Given the description of an element on the screen output the (x, y) to click on. 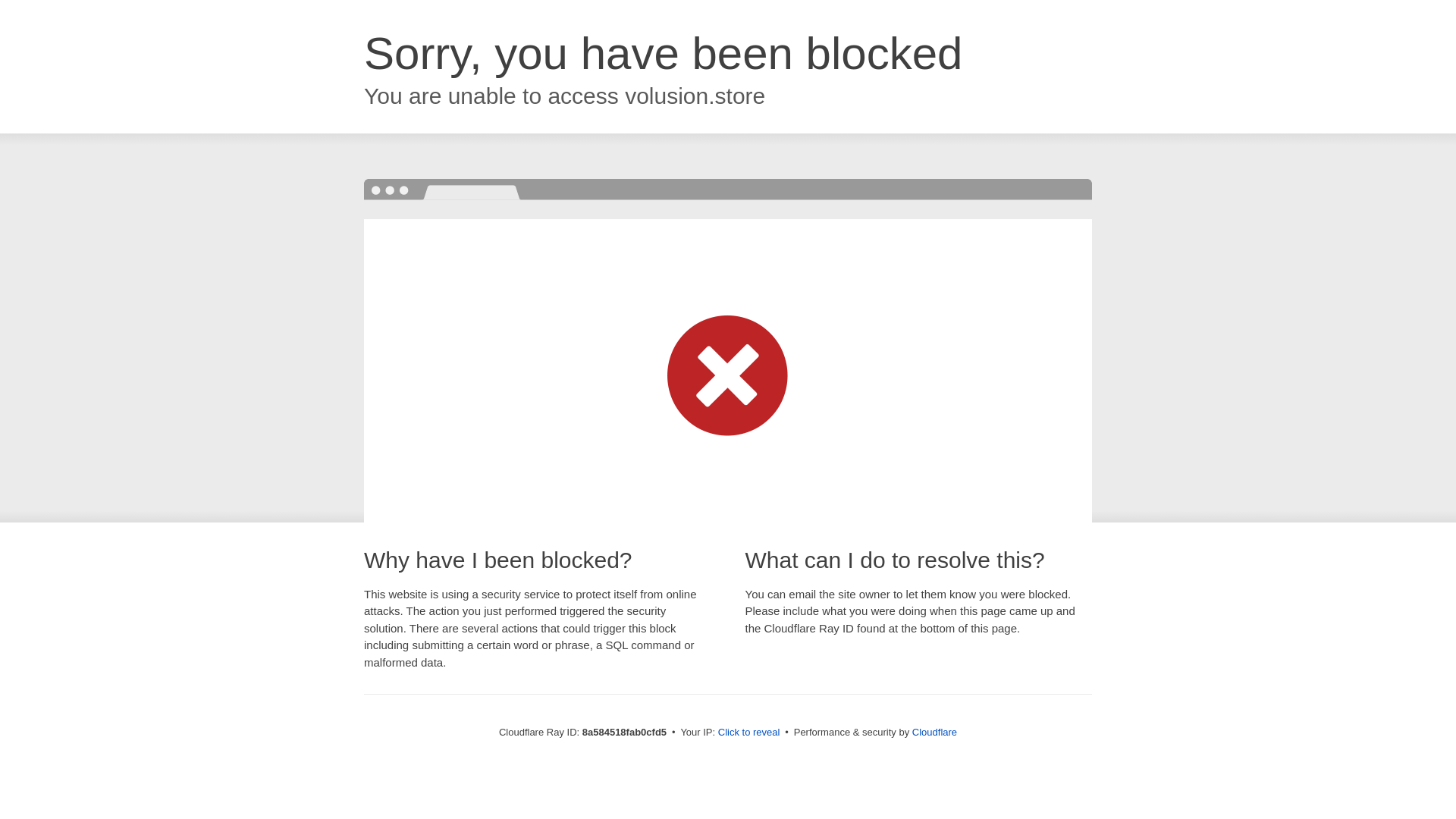
Cloudflare (934, 731)
Click to reveal (748, 732)
